Given the description of an element on the screen output the (x, y) to click on. 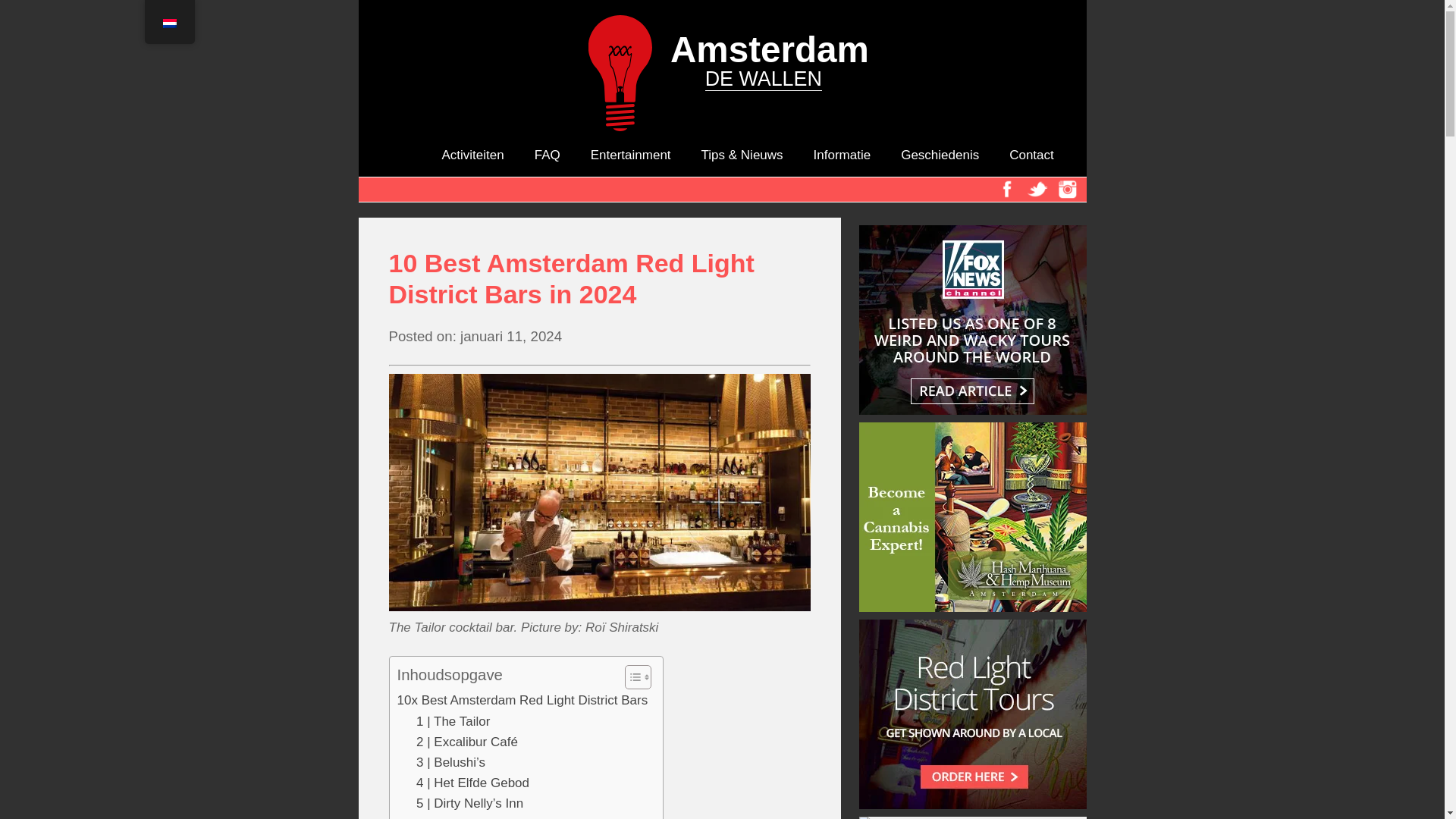
FAQ (547, 155)
Geschiedenis (939, 155)
10x Best Amsterdam Red Light District Bars (522, 700)
Informatie (841, 155)
10x Best Amsterdam Red Light District Bars (522, 700)
Activiteiten (472, 155)
10 Best Amsterdam Red Light District Bars in 2024 (598, 279)
Contact (1031, 155)
Entertainment (631, 155)
